Given the description of an element on the screen output the (x, y) to click on. 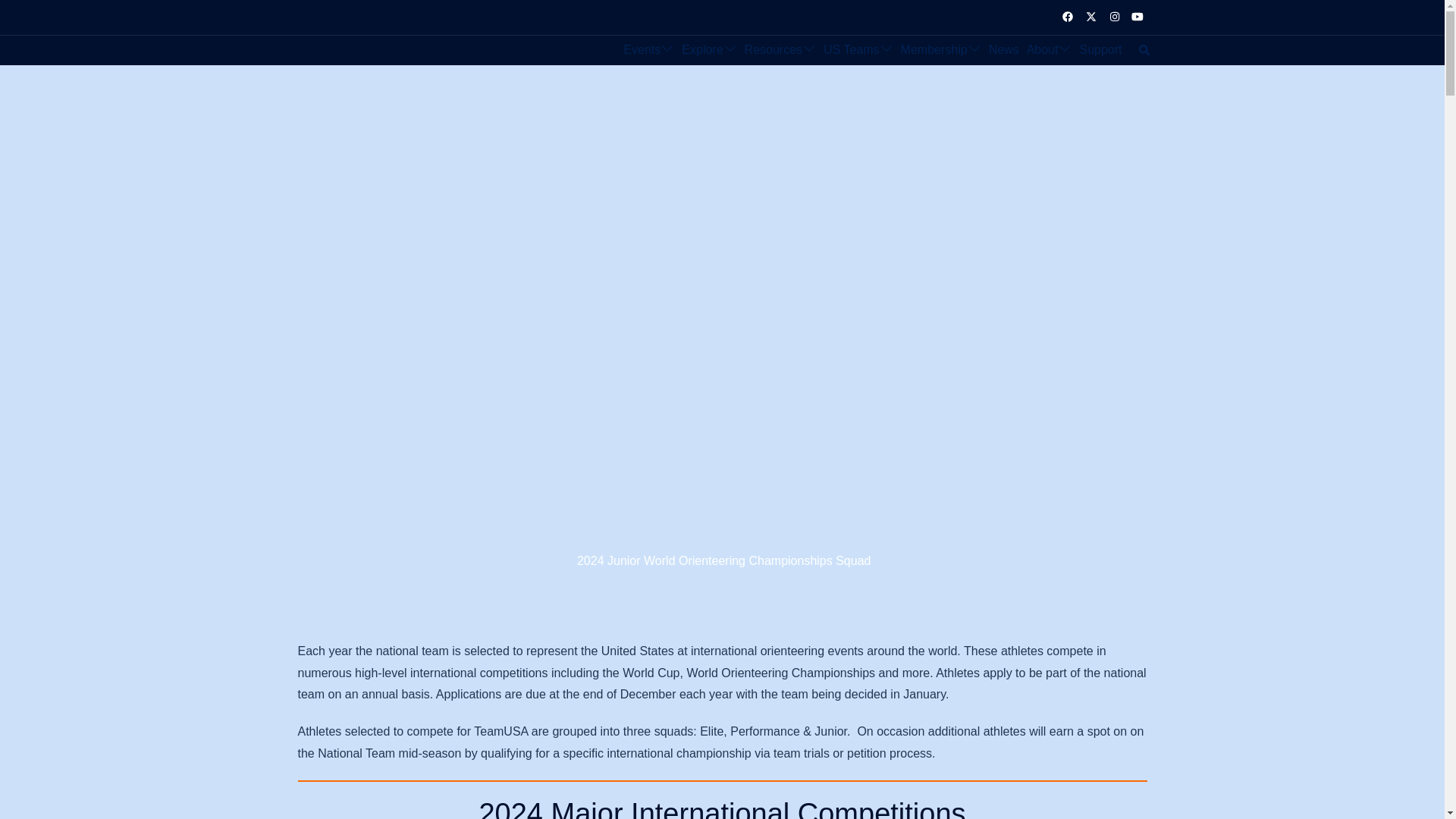
Resources (773, 50)
US Teams (851, 50)
Explore (701, 50)
About (1042, 50)
Membership (934, 50)
Events (642, 50)
News (1003, 50)
Information on Orienteering Events (642, 50)
